Given the description of an element on the screen output the (x, y) to click on. 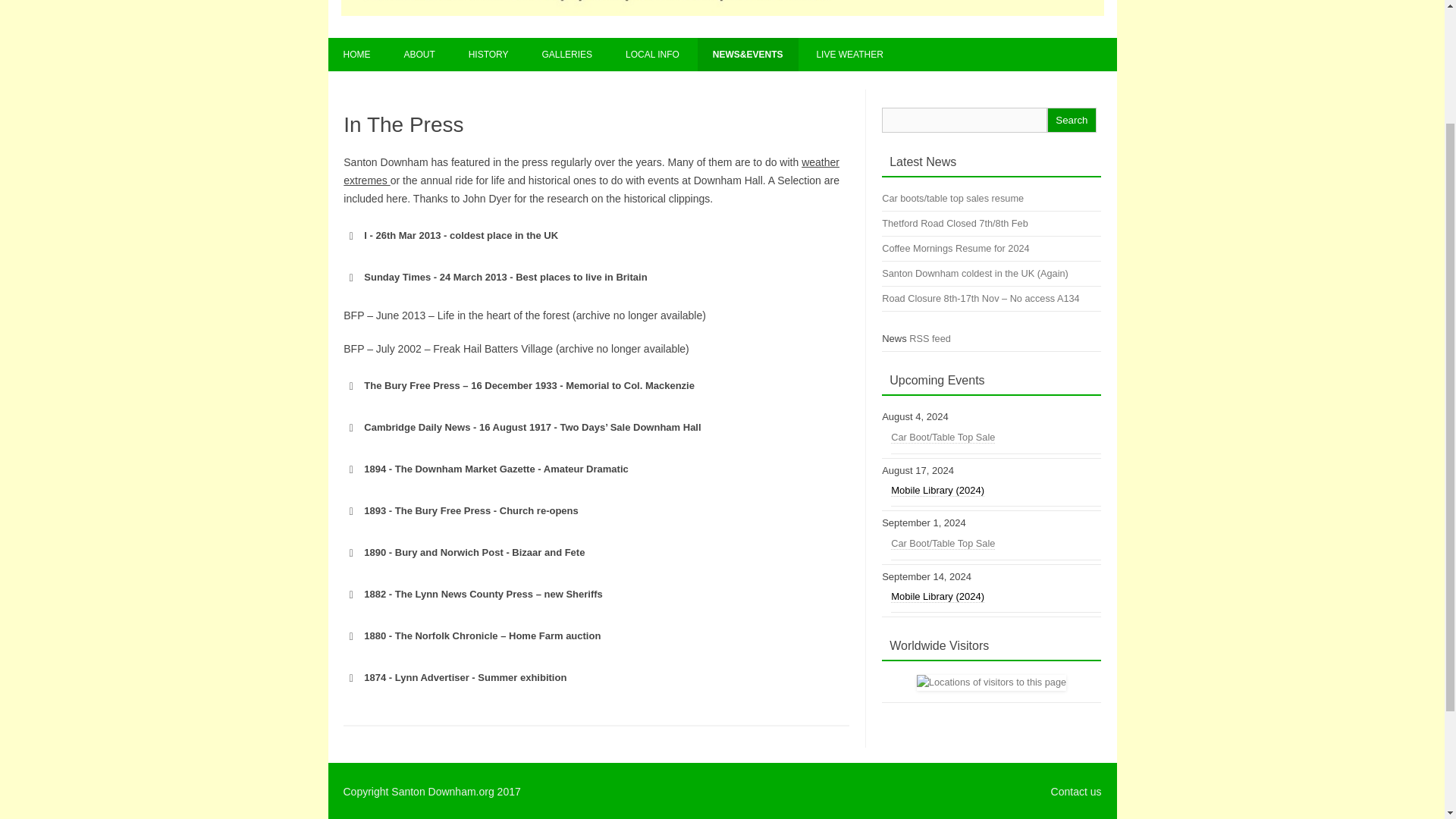
HISTORY (488, 54)
Santon Downham (721, 11)
GALLERIES (566, 54)
HOME (356, 54)
ABOUT (418, 54)
Skip to content (757, 42)
Search (1071, 119)
Skip to content (757, 42)
